Given the description of an element on the screen output the (x, y) to click on. 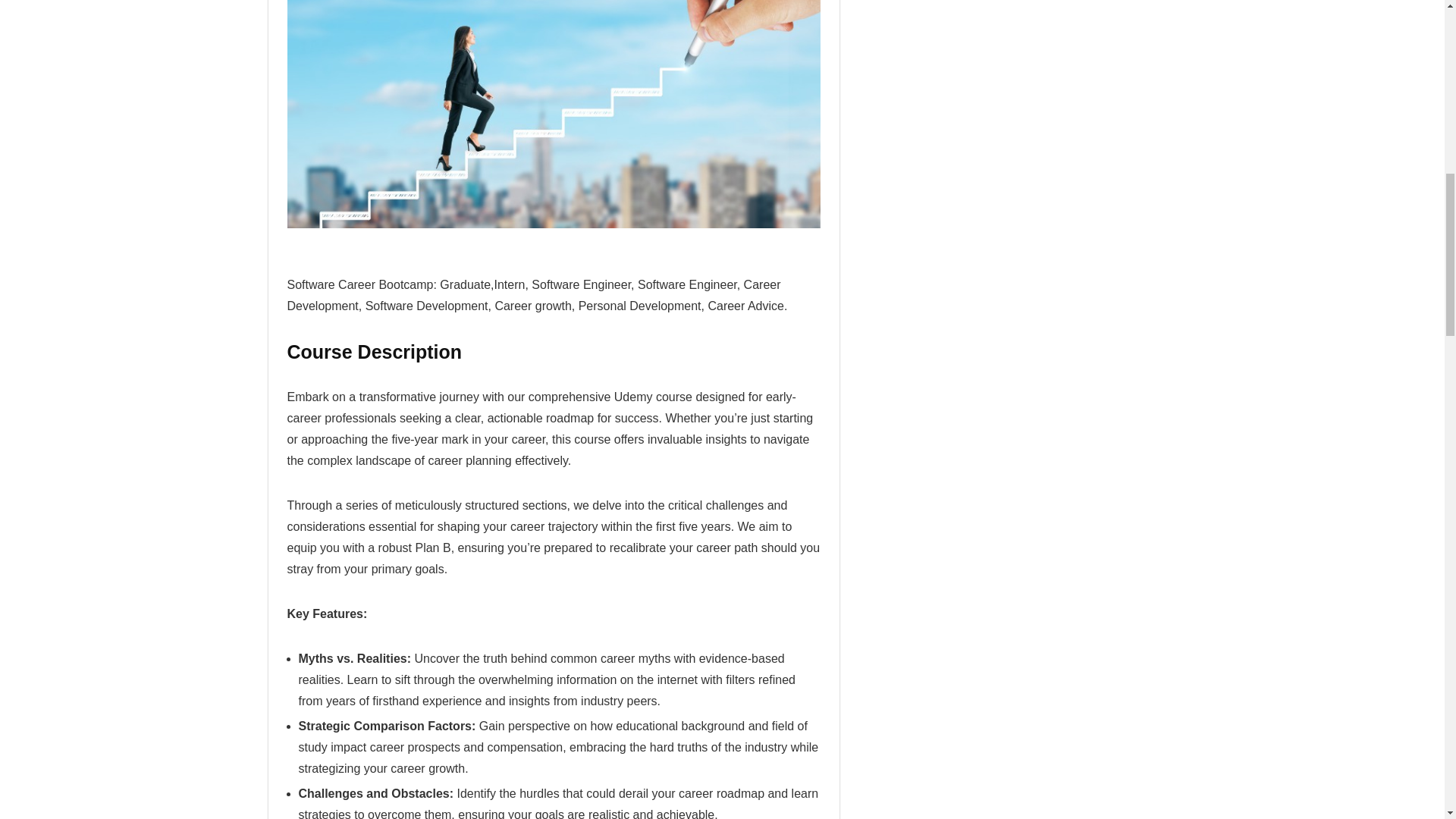
Software Career Bootcamp: Graduate,Intern, Software Engineer (552, 114)
